Given the description of an element on the screen output the (x, y) to click on. 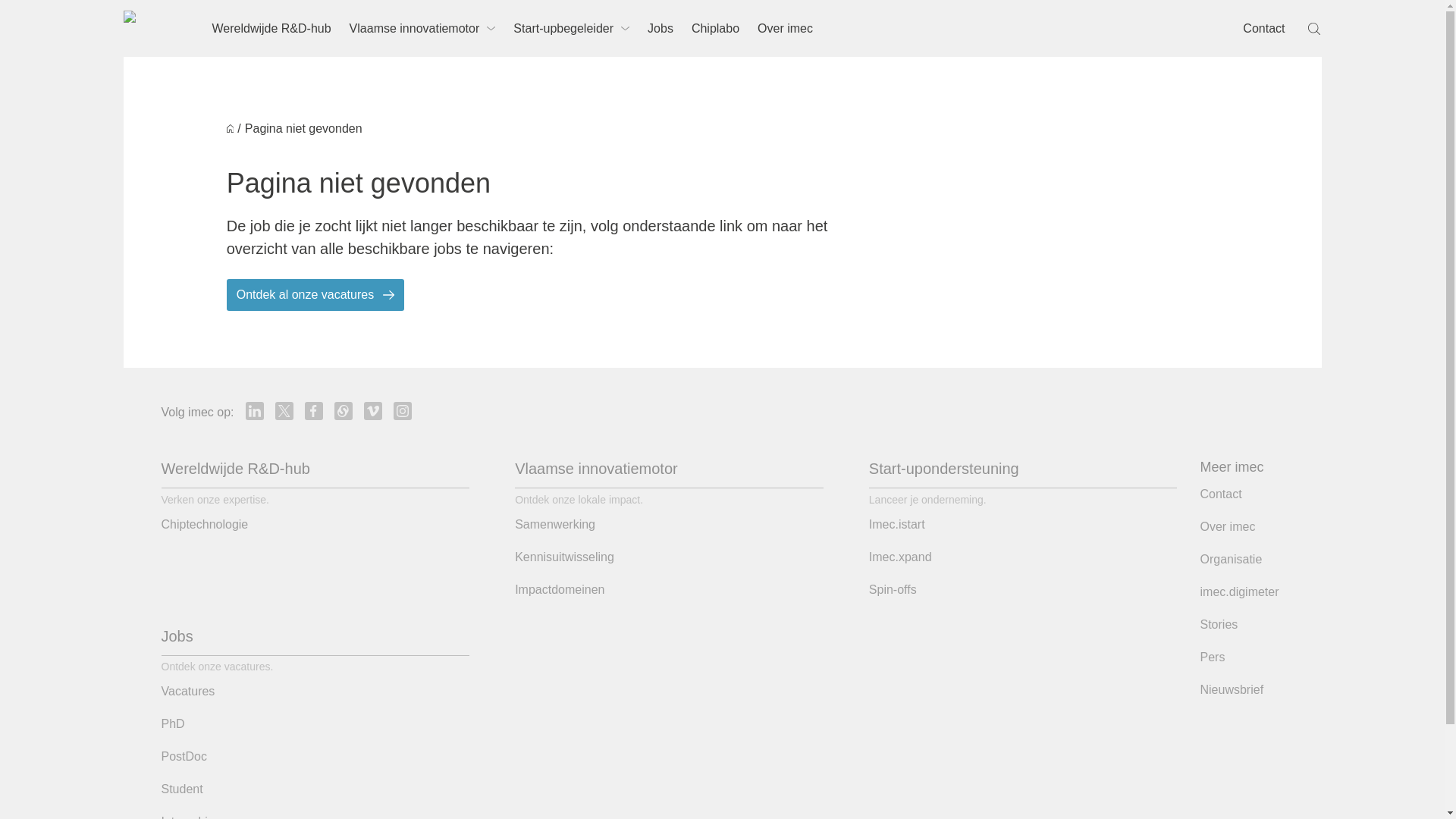
PostDoc (183, 756)
Vlaamse innovatiemotor (422, 28)
PhD (172, 723)
Contact (1263, 28)
Imec.xpand (900, 556)
Vlaamse innovatiemotor (596, 468)
Internships (189, 816)
Spin-offs (893, 589)
Ontdek al onze vacatures (315, 295)
Vimeo (372, 411)
Student (181, 789)
Facebook (313, 411)
Kennisuitwisseling (564, 556)
Over imec (785, 28)
Home (230, 128)
